Given the description of an element on the screen output the (x, y) to click on. 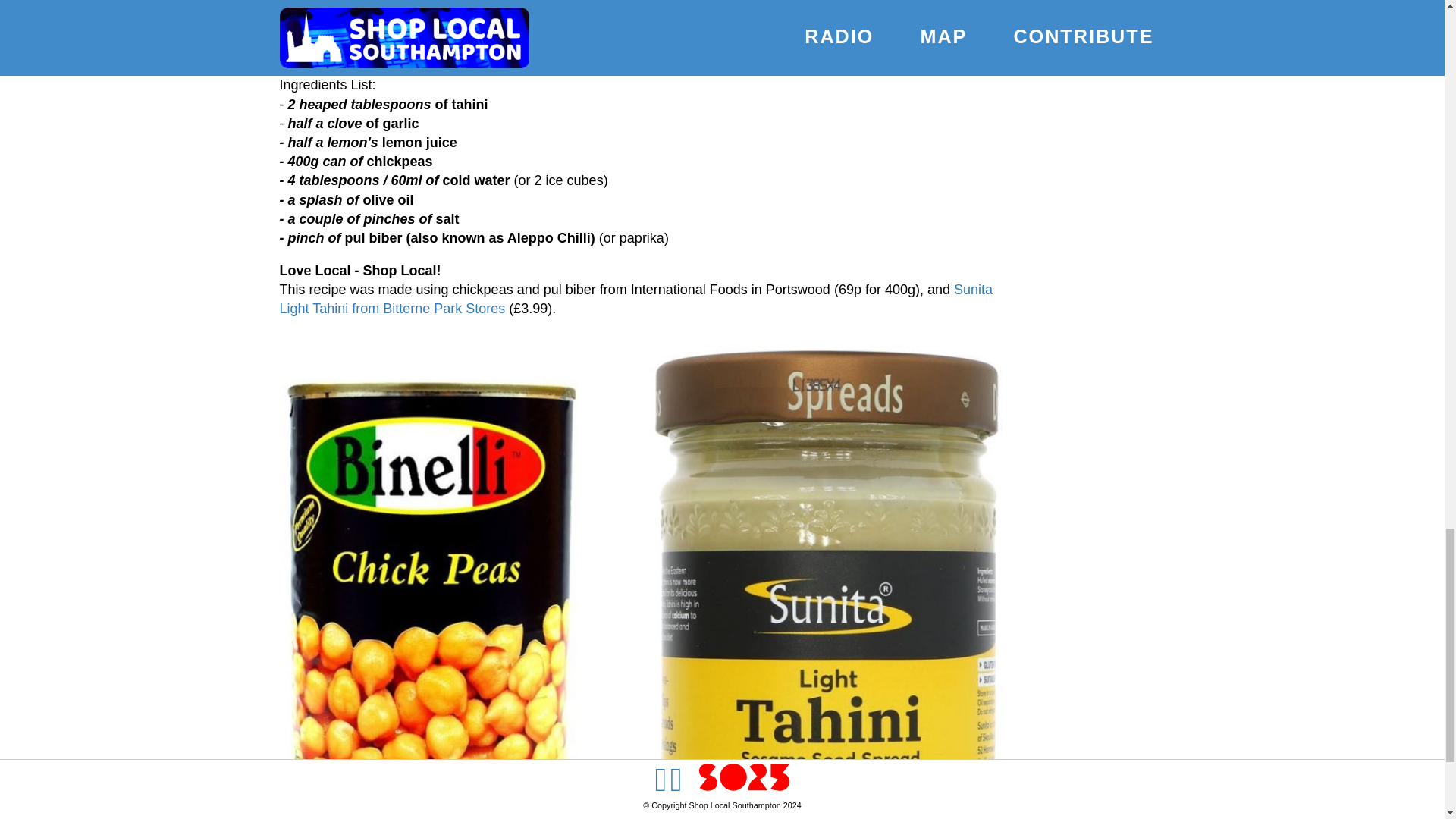
Sunita Light Tahini from Bitterne Park Stores (635, 298)
